Given the description of an element on the screen output the (x, y) to click on. 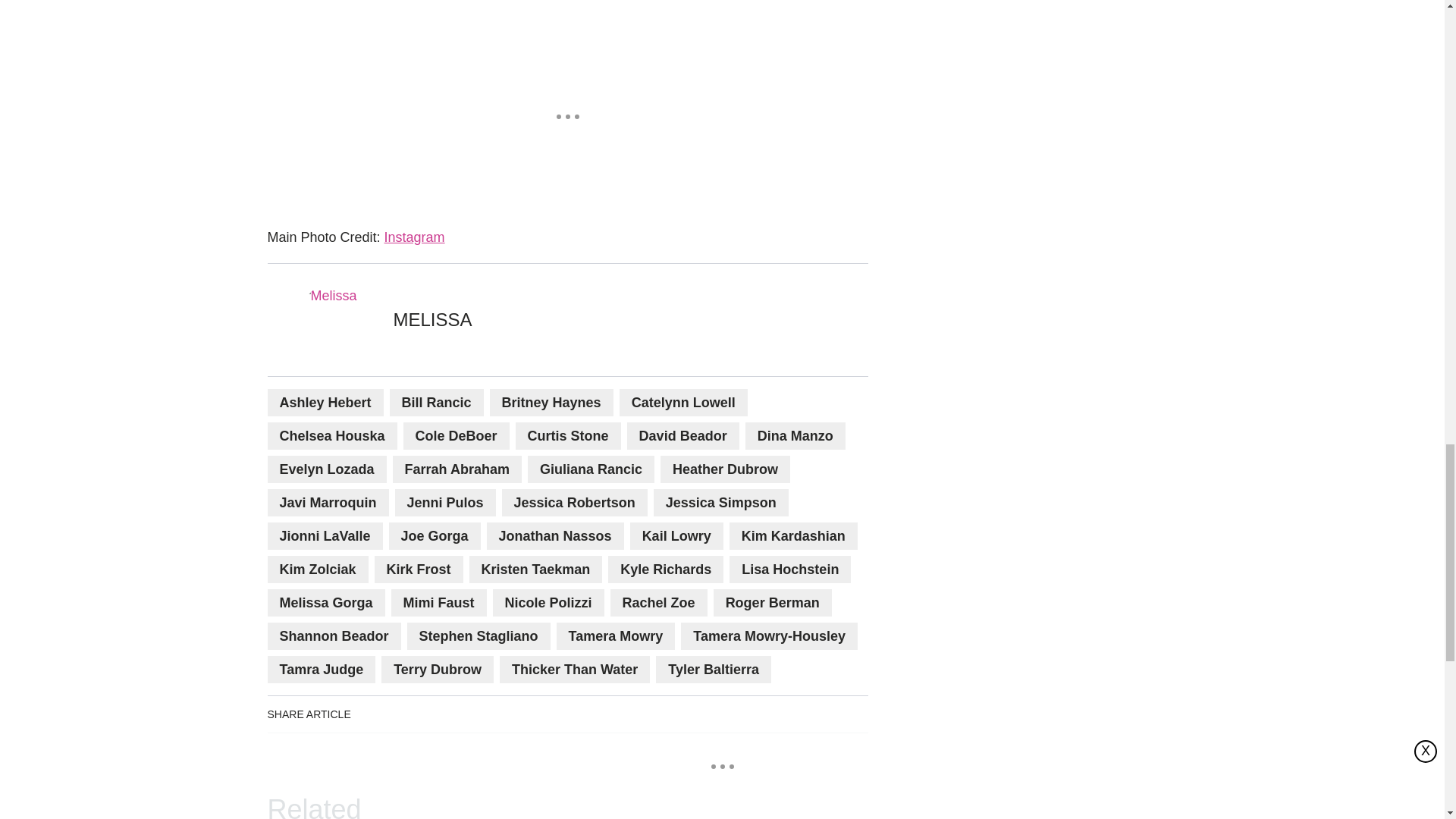
Instagram (414, 237)
Britney Haynes (550, 402)
Ashley Hebert (324, 402)
Curtis Stone (568, 435)
MELISSA (432, 319)
Bill Rancic (436, 402)
Cole DeBoer (456, 435)
Chelsea Houska (331, 435)
Catelynn Lowell (684, 402)
